Given the description of an element on the screen output the (x, y) to click on. 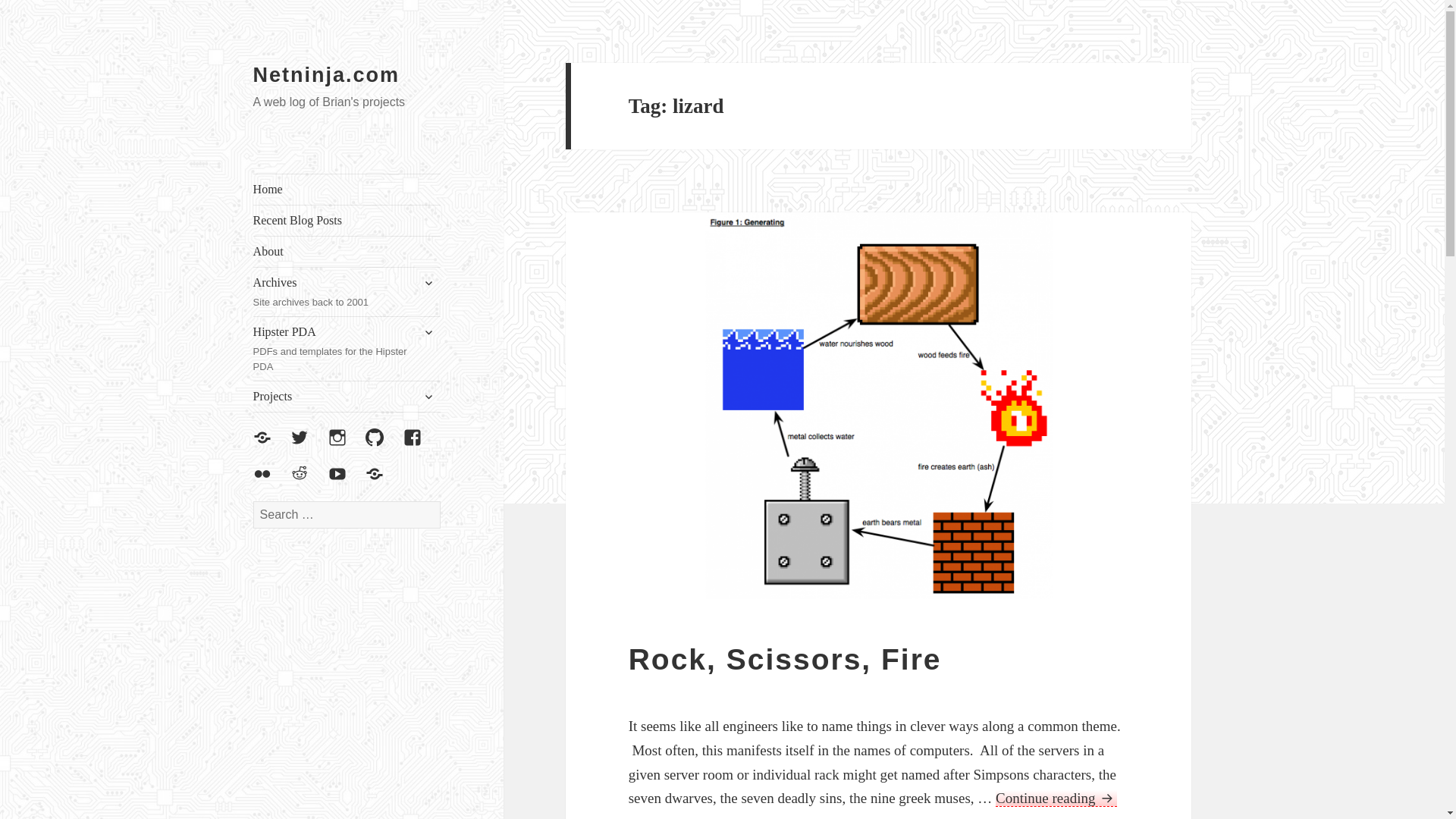
expand child menu (428, 282)
expand child menu (347, 348)
Home (428, 331)
About (347, 189)
Search (347, 251)
Netninja.com (347, 291)
